Given the description of an element on the screen output the (x, y) to click on. 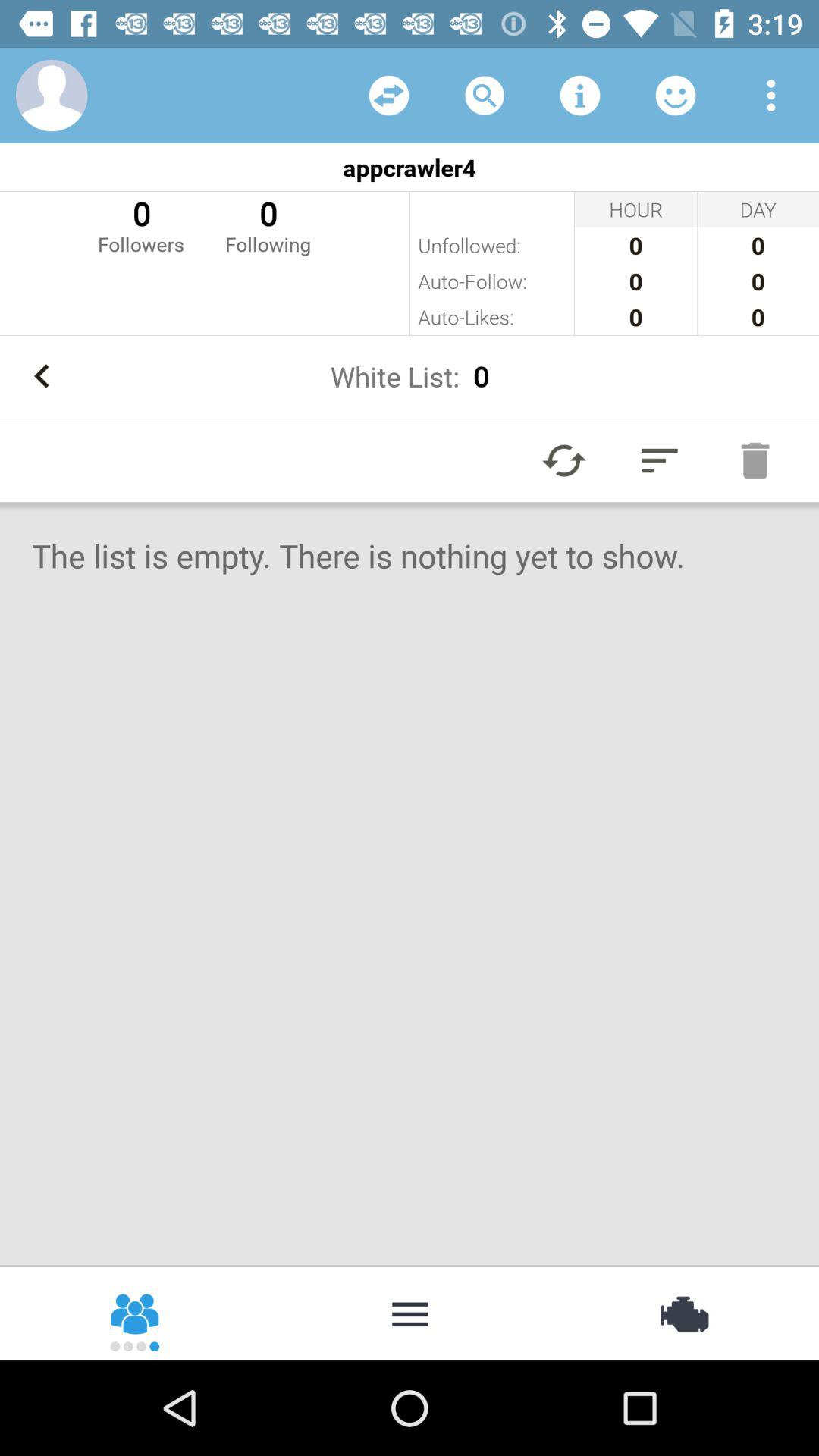
delete (755, 460)
